Given the description of an element on the screen output the (x, y) to click on. 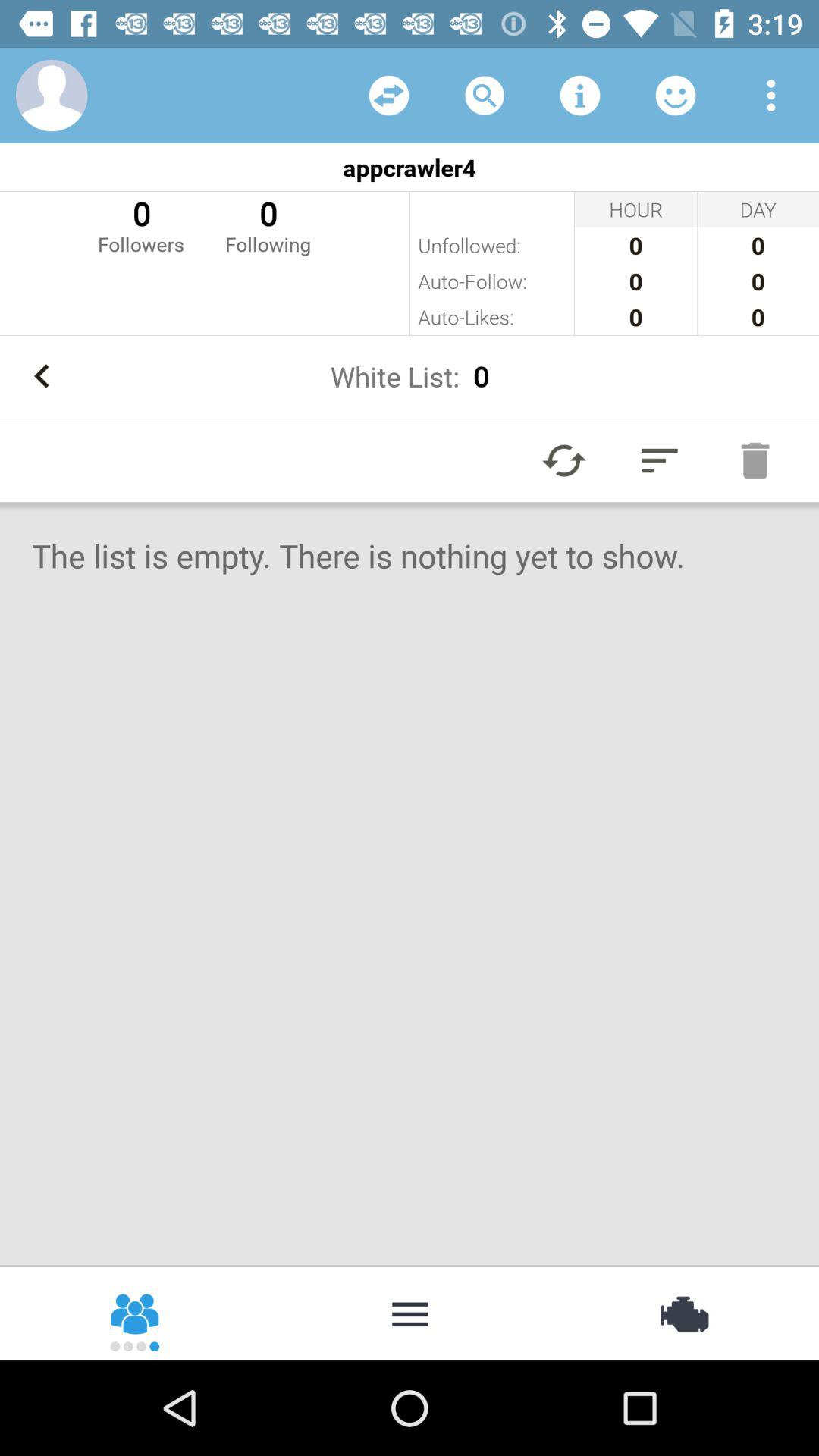
delete (755, 460)
